Given the description of an element on the screen output the (x, y) to click on. 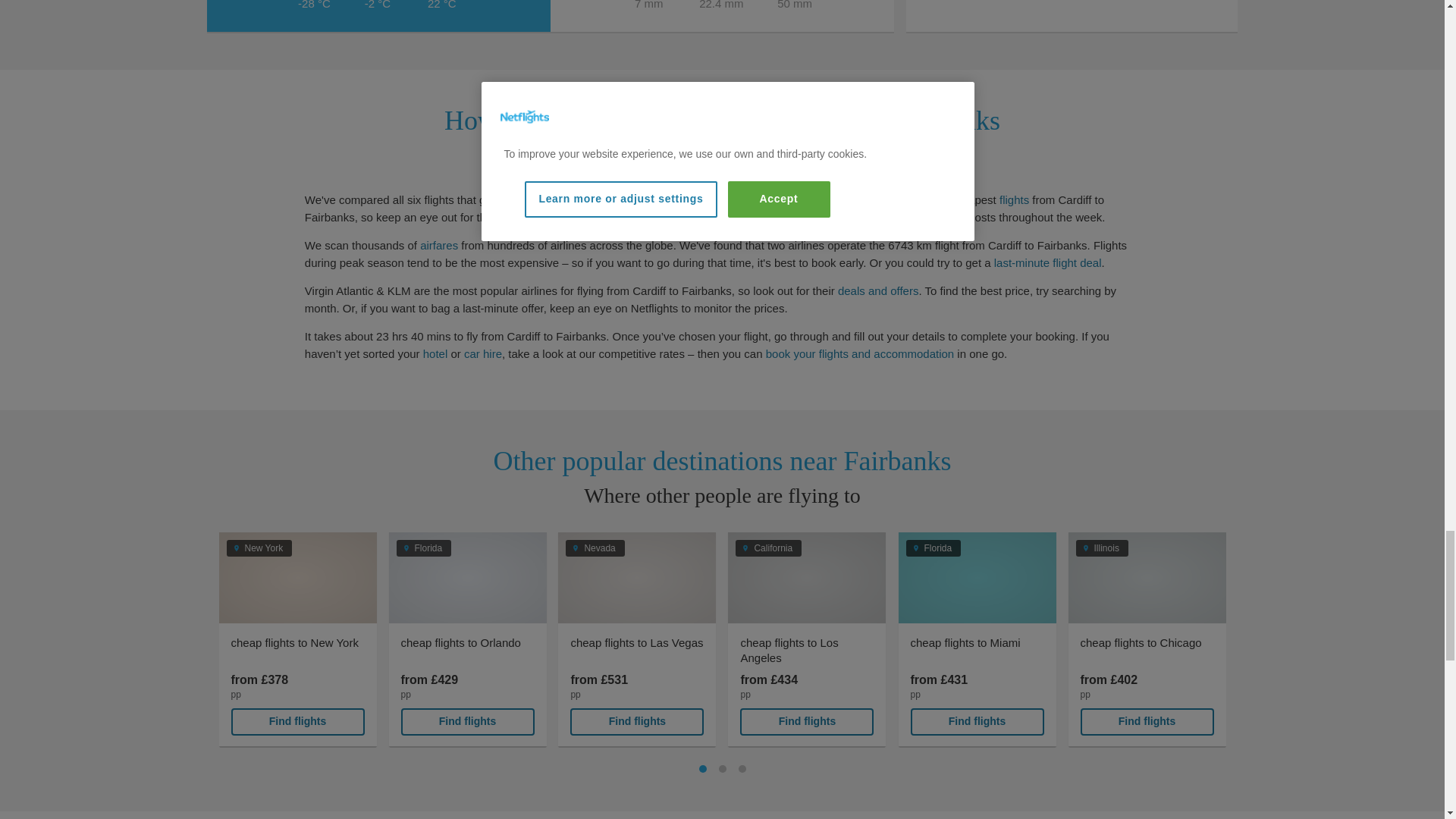
last minute flight deal (1048, 262)
flight deals and offers (878, 290)
search cheap hotels (435, 353)
book flights and accommodation (859, 353)
holiday car hire (483, 353)
search all flights (1013, 199)
compare airfares (439, 245)
